Given the description of an element on the screen output the (x, y) to click on. 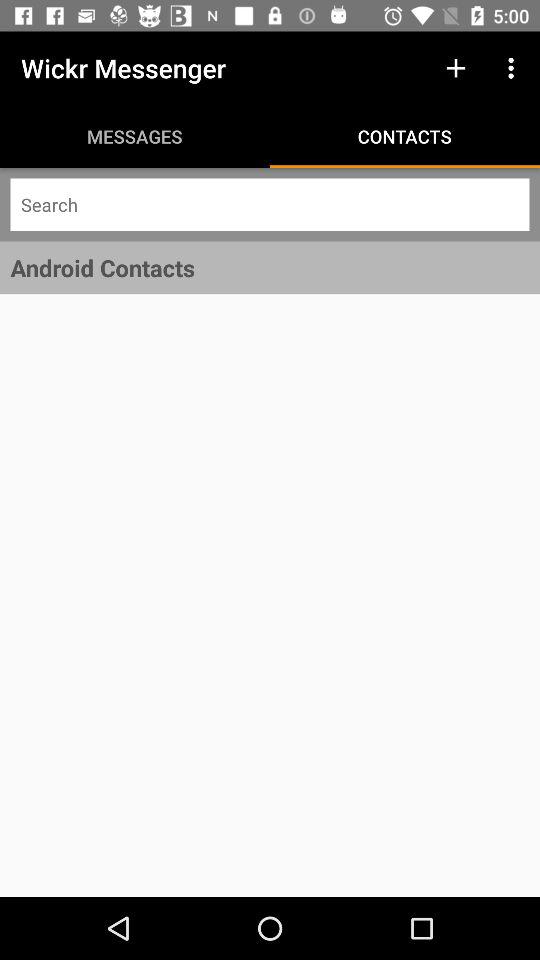
launch icon below the messages icon (269, 204)
